Given the description of an element on the screen output the (x, y) to click on. 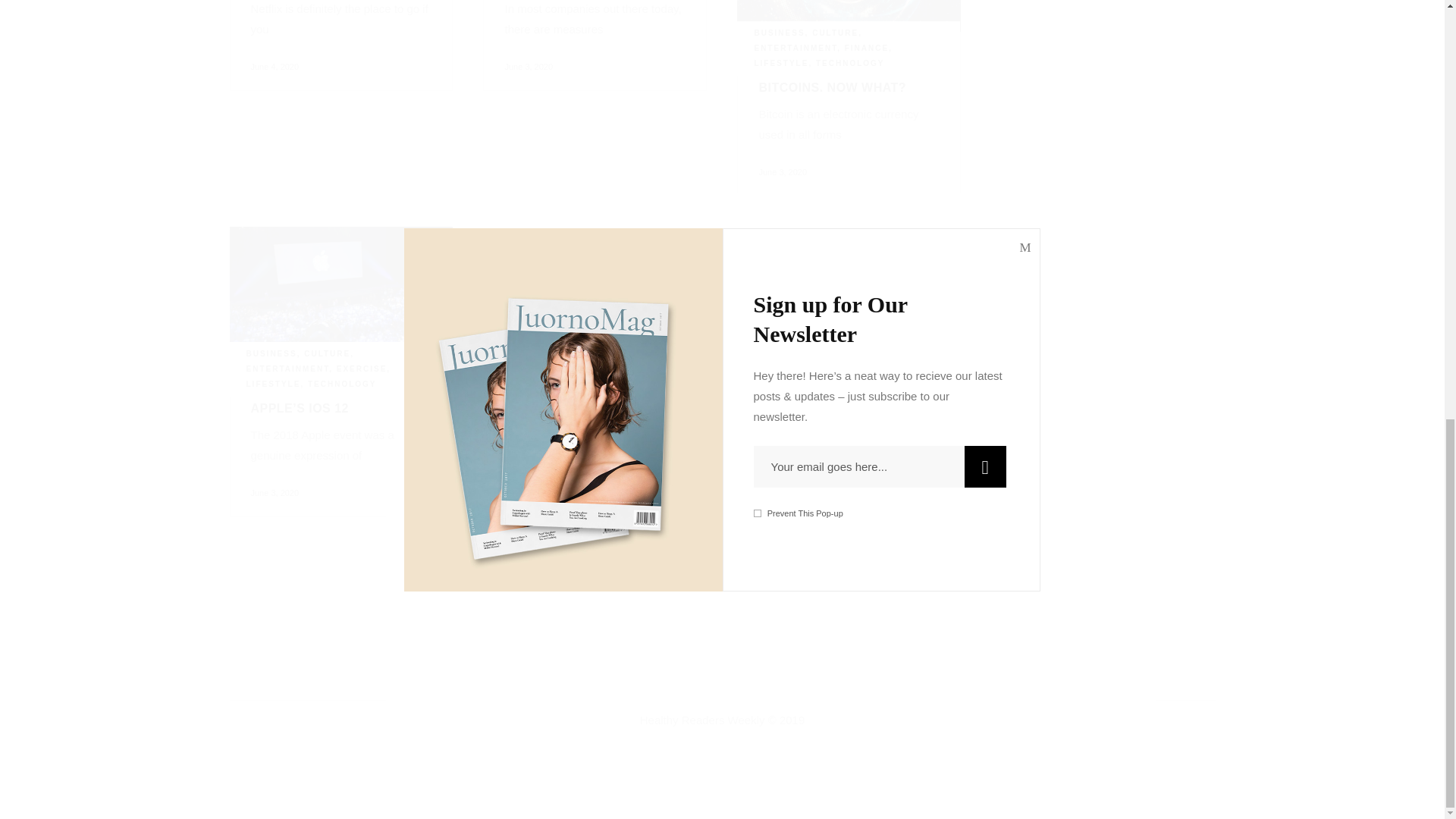
So you bought some Bitcoins. Now what? (848, 15)
So you bought some Bitcoins. Now what? (832, 78)
